Given the description of an element on the screen output the (x, y) to click on. 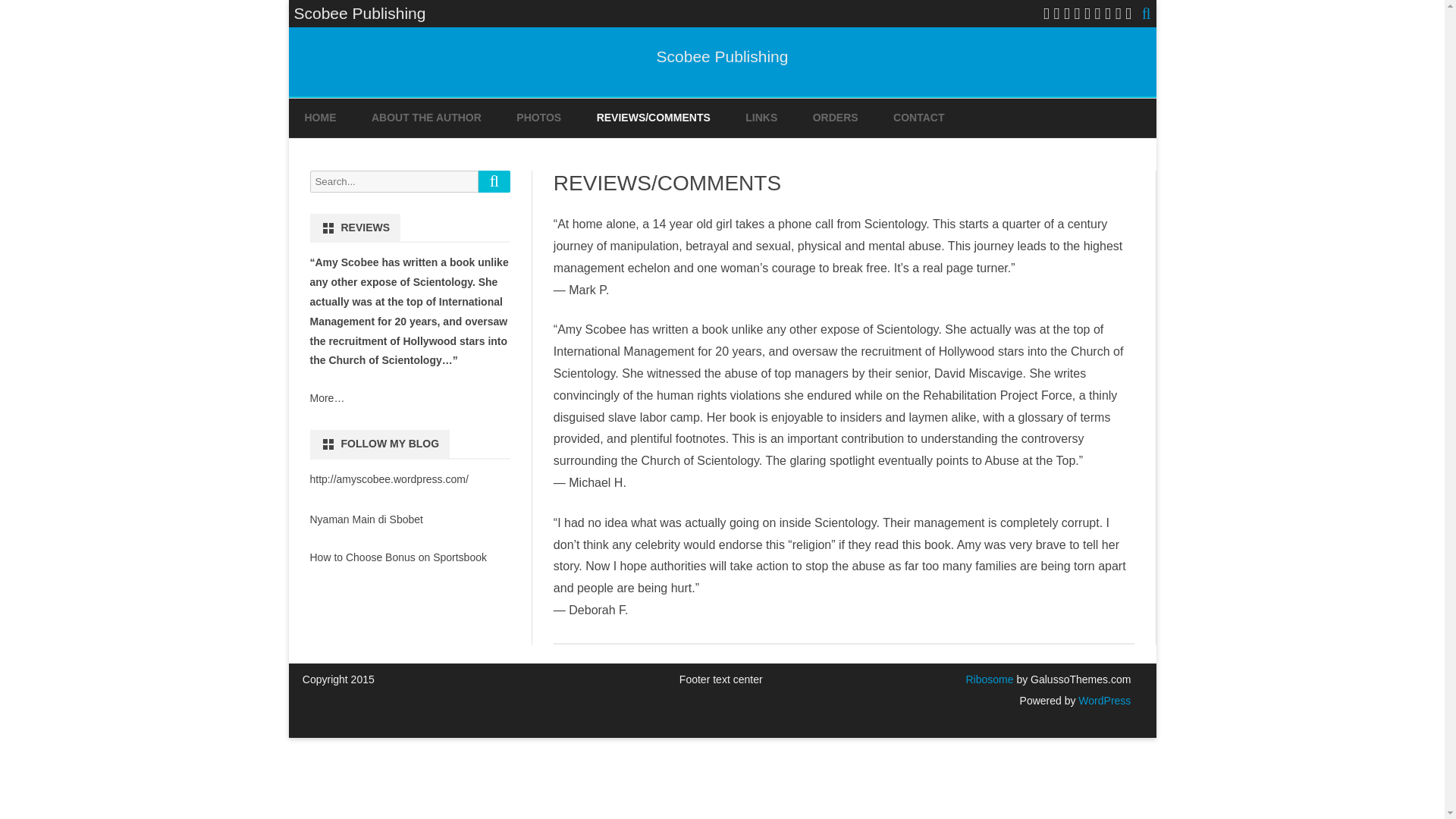
How to Choose Bonus on Sportsbook (397, 557)
CONTACT (918, 118)
PHOTOS (538, 118)
Scobee Publishing (722, 56)
ORDERS (835, 118)
Search (495, 181)
Nyaman Main di Sbobet (365, 519)
ABOUT THE AUTHOR (426, 118)
Ribosome (989, 679)
